Given the description of an element on the screen output the (x, y) to click on. 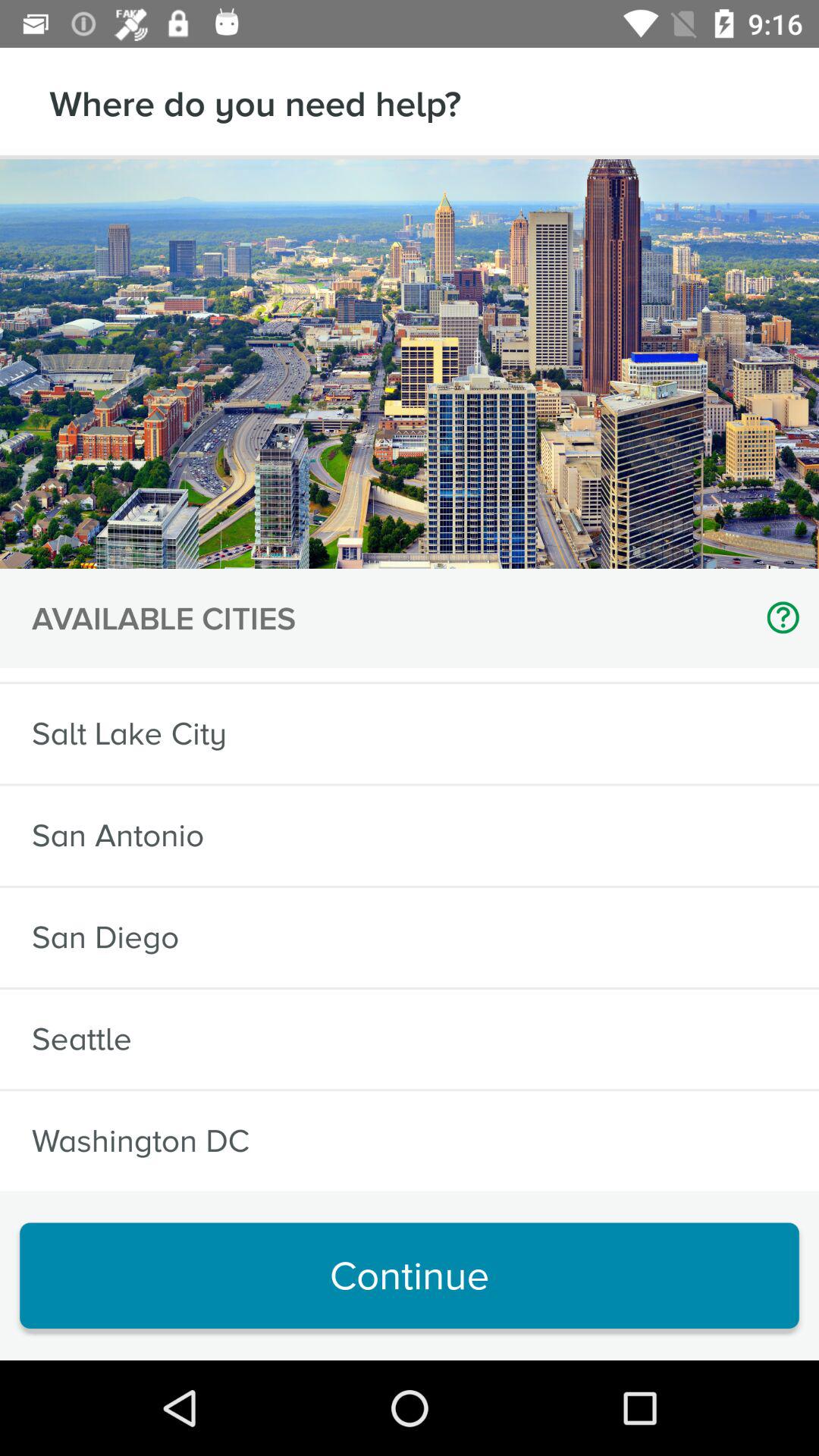
launch the item next to the available cities (777, 617)
